Given the description of an element on the screen output the (x, y) to click on. 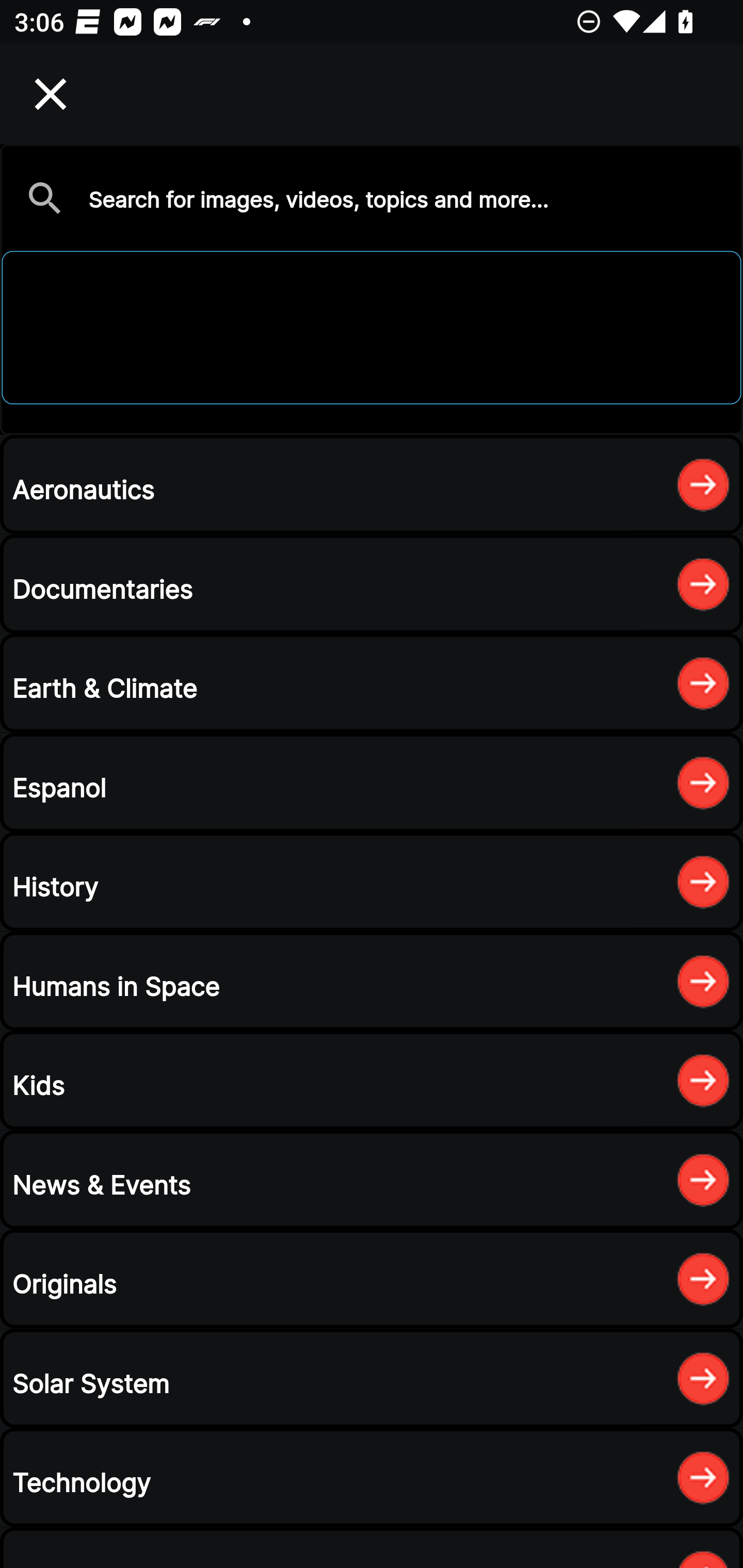
Aeronautics (371, 484)
Documentaries (371, 583)
Earth & Climate (371, 682)
Espanol (371, 782)
History (371, 881)
Humans in Space (371, 980)
Kids (371, 1080)
News & Events (371, 1179)
Originals (371, 1278)
Solar System (371, 1378)
Technology (371, 1477)
